Given the description of an element on the screen output the (x, y) to click on. 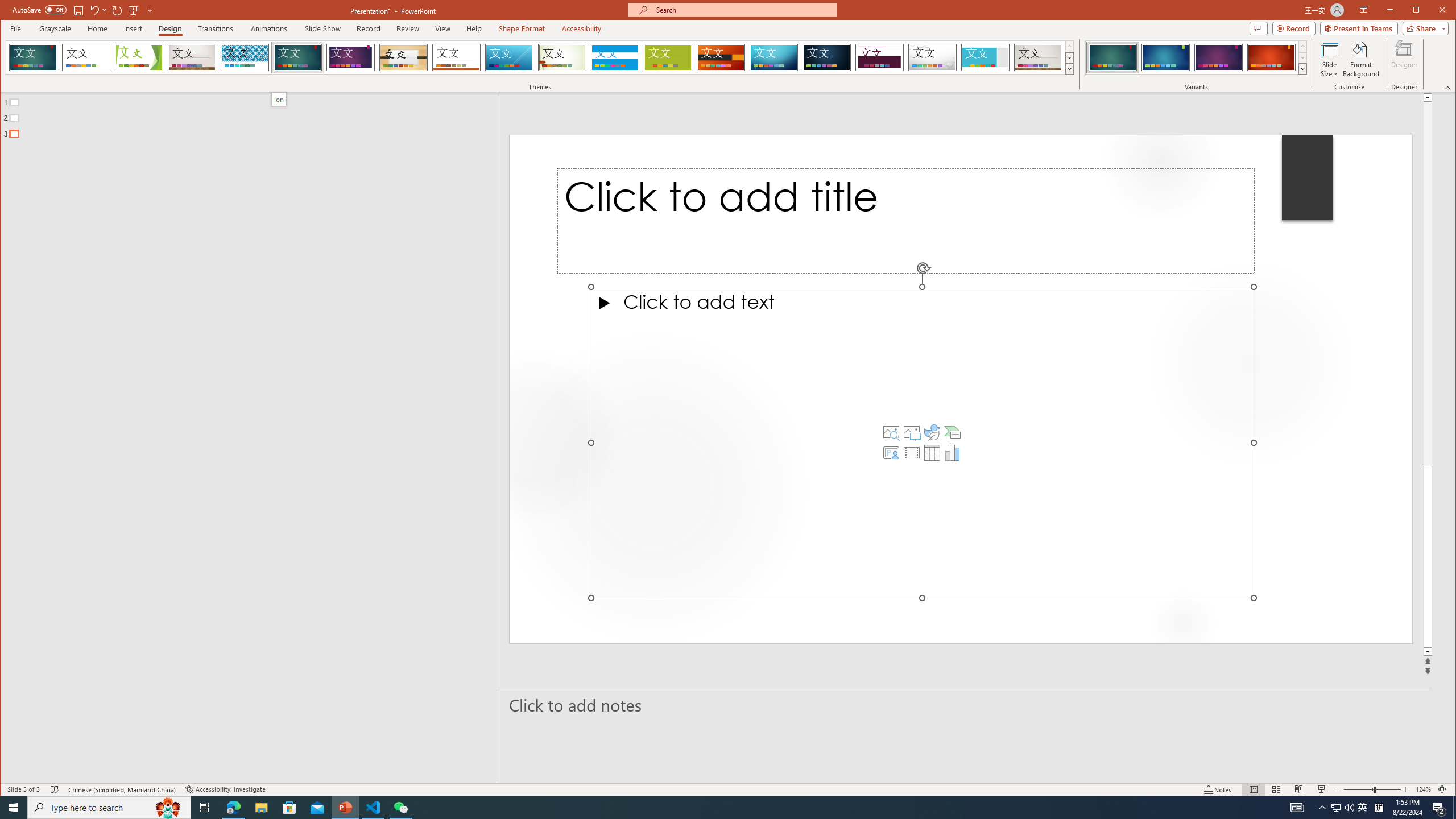
Circuit (773, 57)
Frame (985, 57)
Ion (297, 57)
Dividend (879, 57)
Ion Boardroom (350, 57)
Retrospect (456, 57)
Berlin (720, 57)
Facet (138, 57)
